Given the description of an element on the screen output the (x, y) to click on. 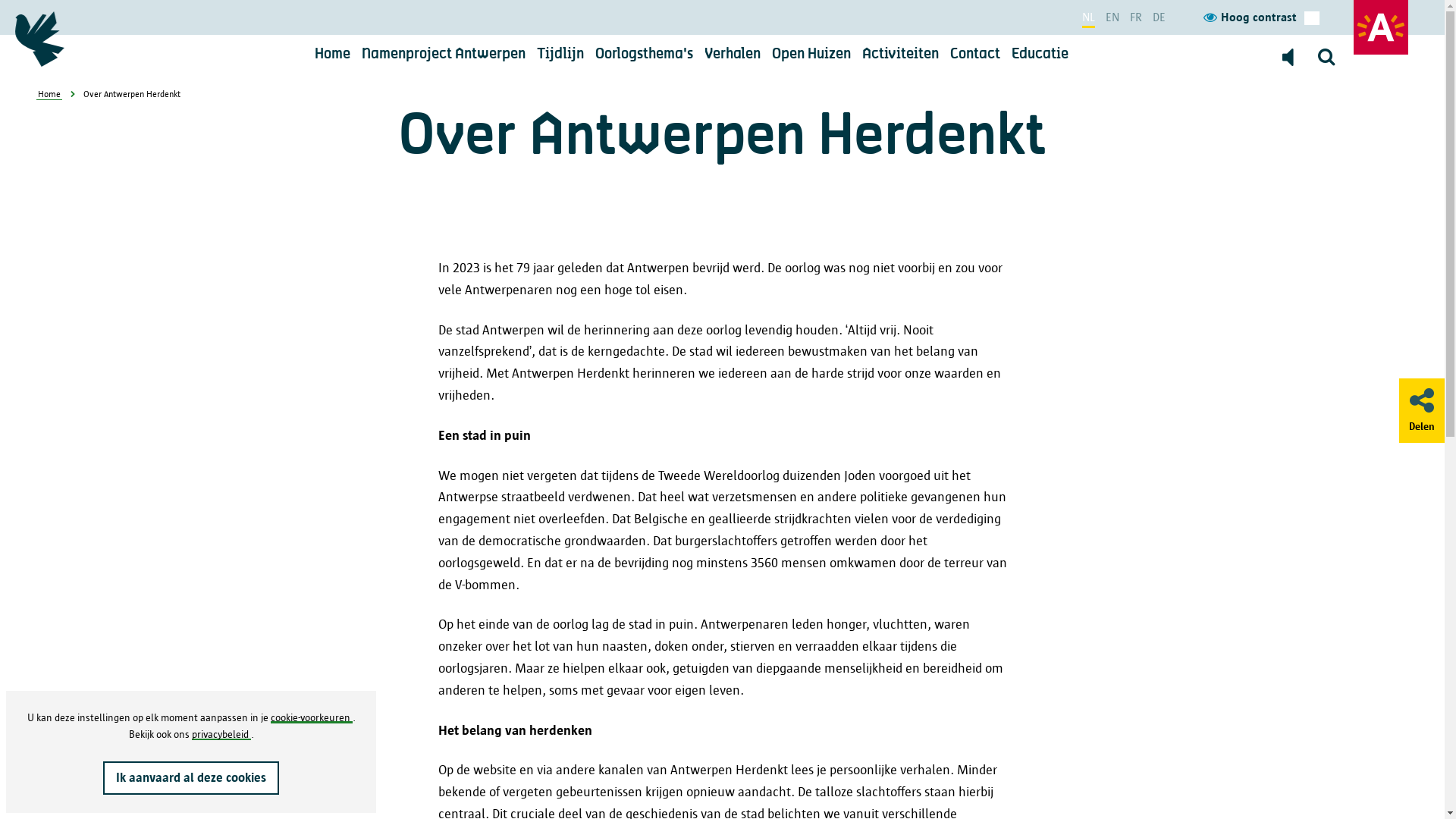
Ik aanvaard al deze cookies Element type: text (191, 777)
Namenproject Antwerpen Element type: text (442, 54)
FR Element type: text (1135, 17)
Tijdlijn Element type: text (559, 54)
Home Element type: text (331, 54)
DE Element type: text (1158, 17)
Verhalen Element type: text (731, 54)
Contact Element type: text (974, 54)
Educatie Element type: text (1039, 54)
Activiteiten Element type: text (899, 54)
cookie-voorkeuren Element type: text (310, 716)
EN Element type: text (1112, 17)
privacybeleid Element type: text (220, 733)
Home Element type: text (49, 93)
Delen Element type: text (1421, 409)
Oorlogsthema's Element type: text (643, 54)
Open Huizen Element type: text (810, 54)
